Given the description of an element on the screen output the (x, y) to click on. 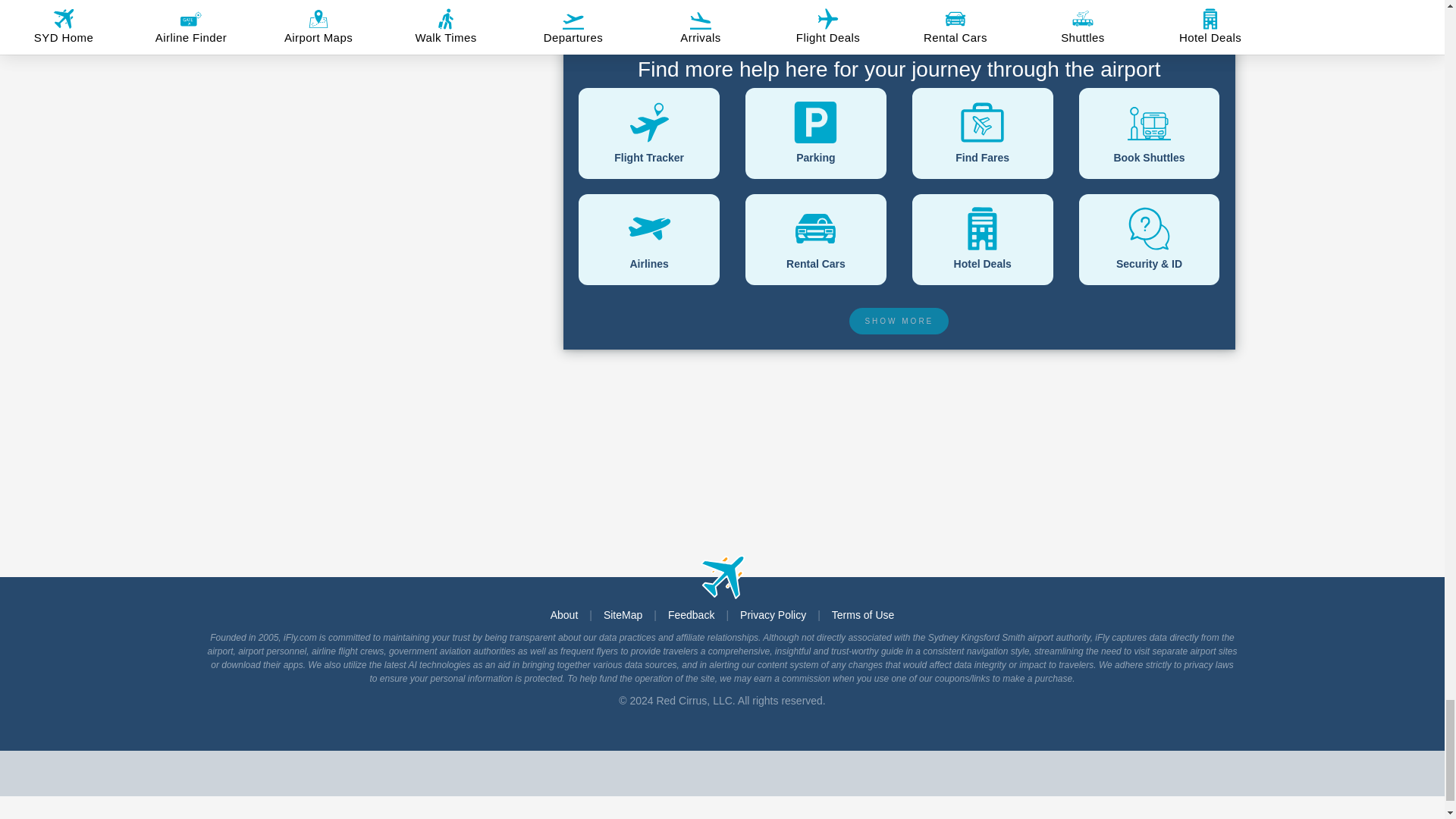
show more (898, 320)
